Given the description of an element on the screen output the (x, y) to click on. 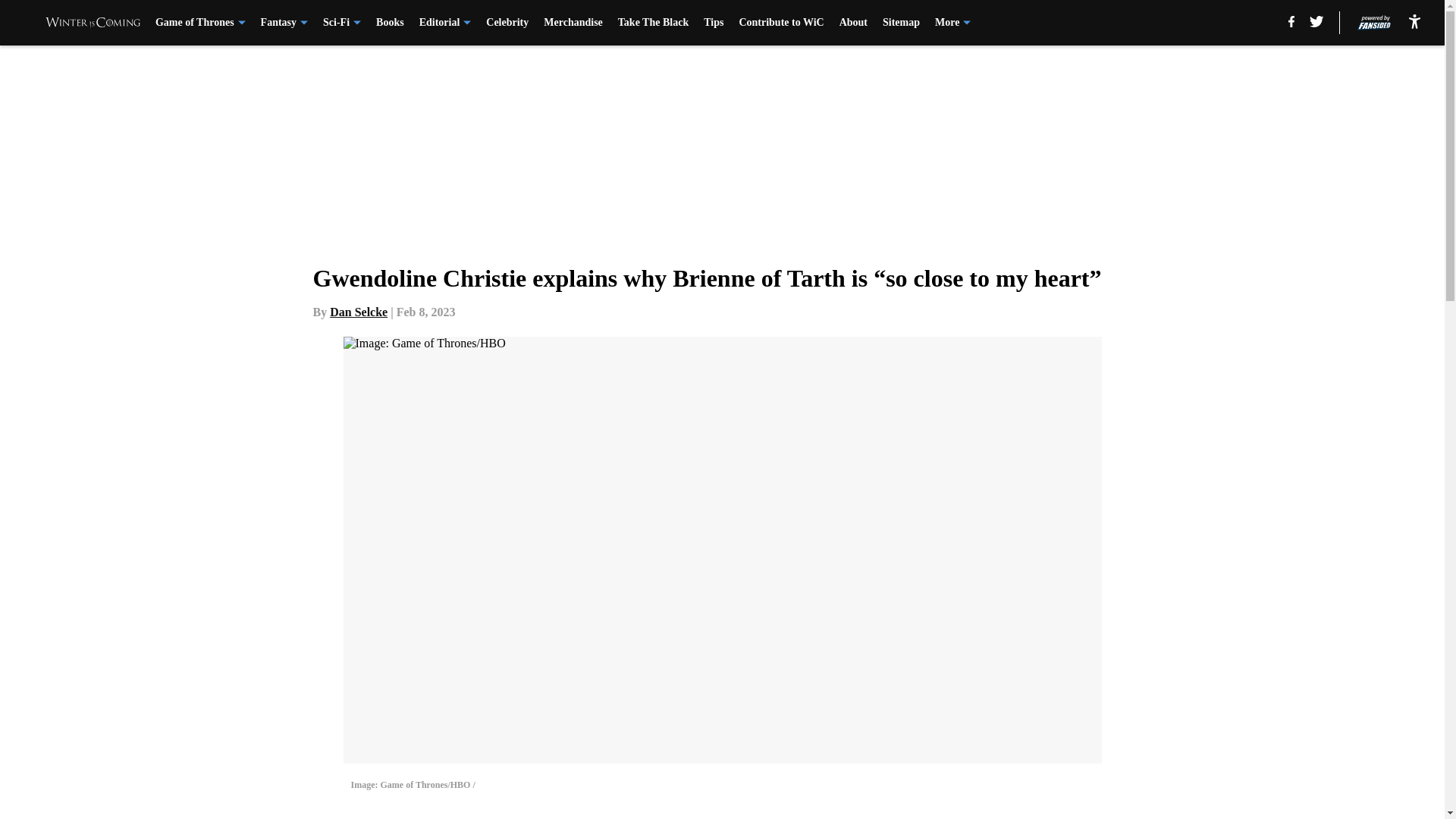
Editorial (445, 22)
Fantasy (283, 22)
Celebrity (507, 22)
Sci-Fi (342, 22)
Game of Thrones (200, 22)
Books (389, 22)
